Given the description of an element on the screen output the (x, y) to click on. 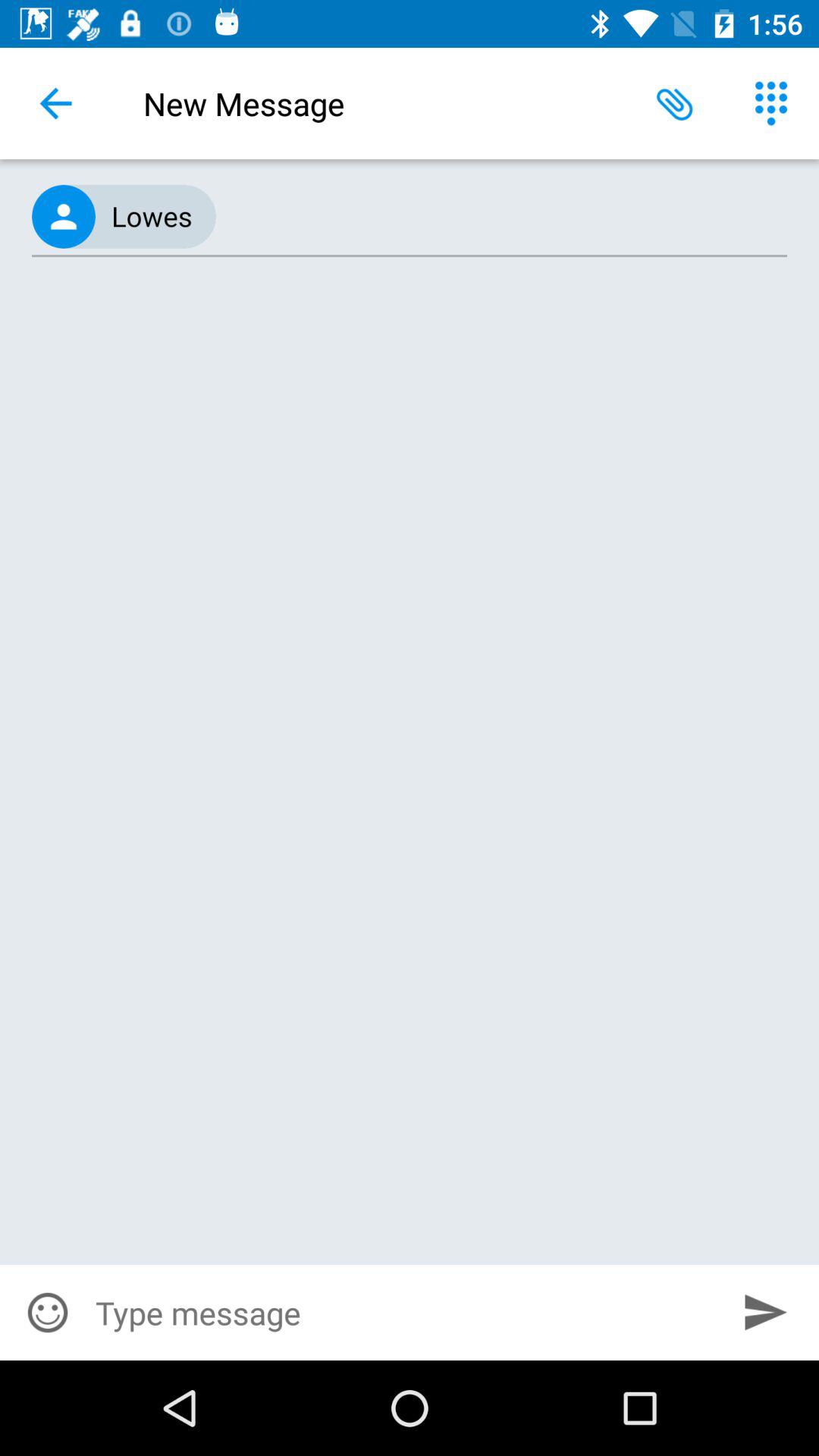
click the (415) 486-8611,  icon (409, 216)
